Given the description of an element on the screen output the (x, y) to click on. 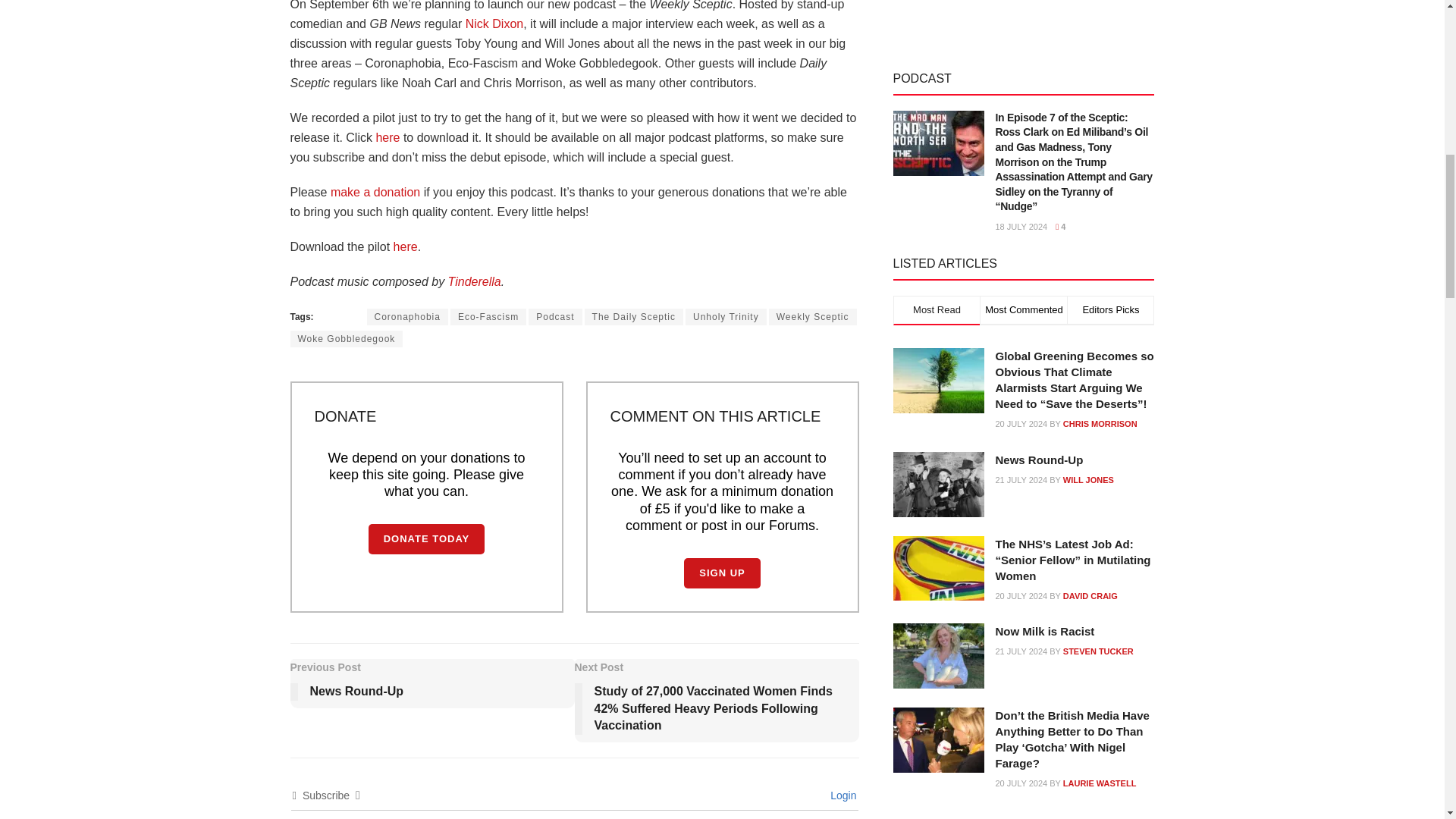
Eco-Fascism (487, 316)
Tinderella (474, 281)
here (386, 137)
make a donation (375, 192)
Coronaphobia (407, 316)
here (405, 246)
Podcast (554, 316)
Nick Dixon (493, 23)
